Given the description of an element on the screen output the (x, y) to click on. 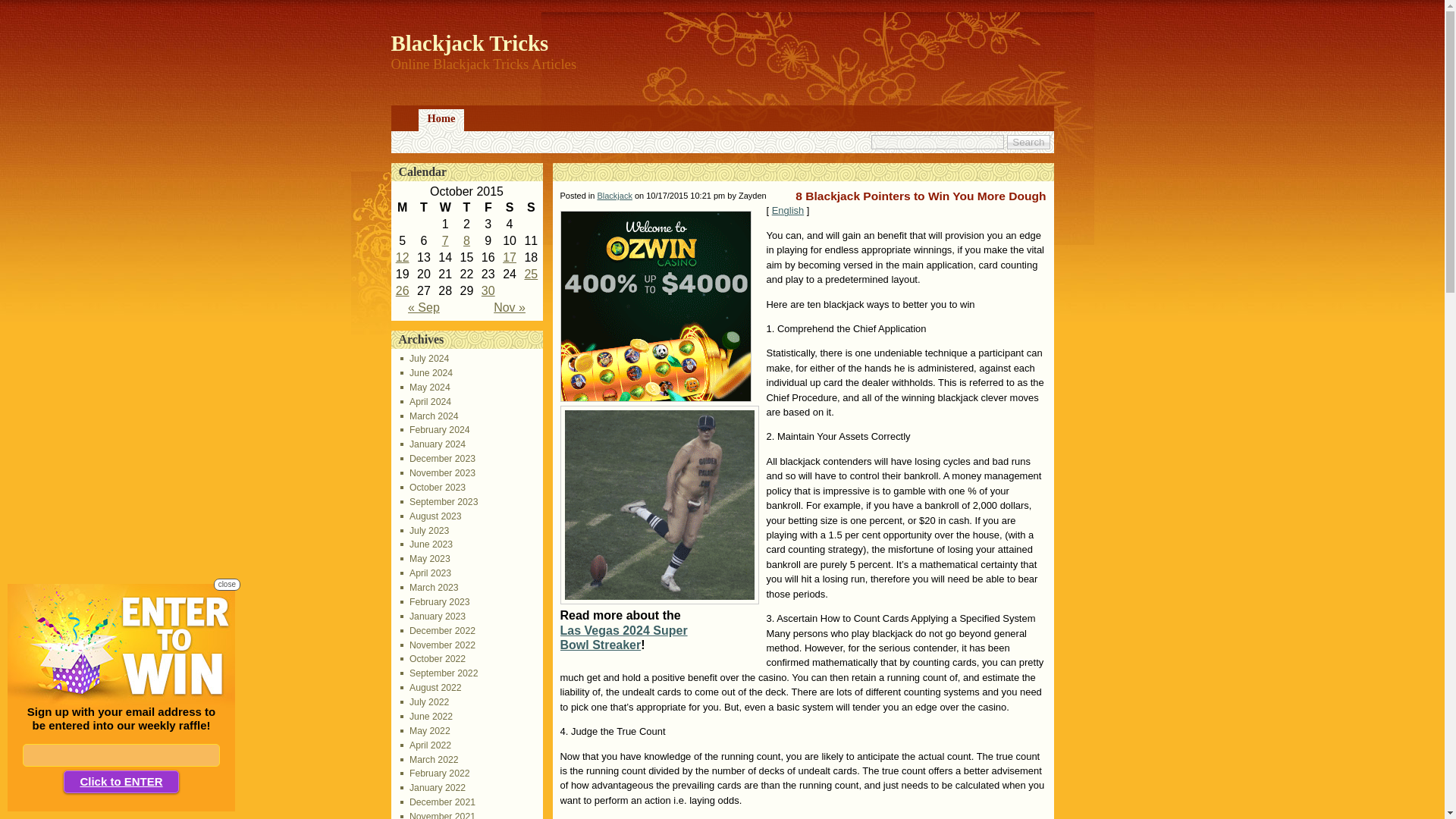
September 2023 (439, 501)
April 2023 (425, 573)
December 2022 (438, 630)
May 2023 (424, 558)
Blackjack Tricks (469, 43)
17 (509, 256)
February 2023 (435, 602)
February 2024 (435, 429)
November 2023 (438, 472)
December 2023 (438, 458)
Home (441, 119)
Search (1028, 142)
October 2022 (432, 658)
Sunday (530, 207)
8 Blackjack Pointers to Win You More Dough (509, 256)
